Given the description of an element on the screen output the (x, y) to click on. 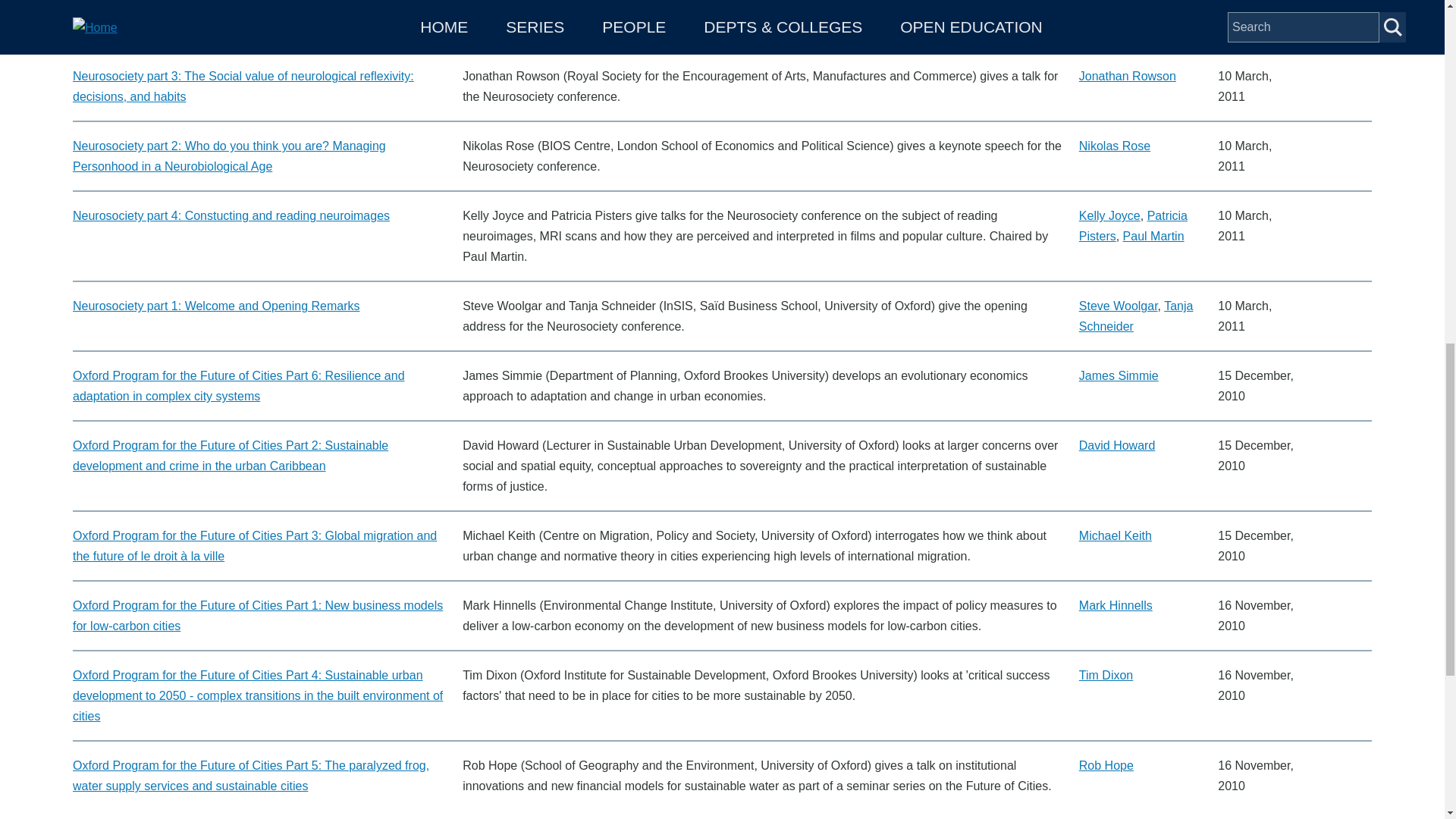
Steve Woolgar (1117, 305)
Michael Keith (1114, 535)
Neurosociety part 4: Constucting and reading neuroimages (231, 215)
James Simmie (1118, 375)
Kelly Joyce (1109, 215)
David Howard (1116, 445)
Neurosociety part 1: Welcome and Opening Remarks (215, 305)
Tanja Schneider (1135, 315)
Jonathan Rowson (1127, 75)
Nikolas Rose (1114, 145)
